Given the description of an element on the screen output the (x, y) to click on. 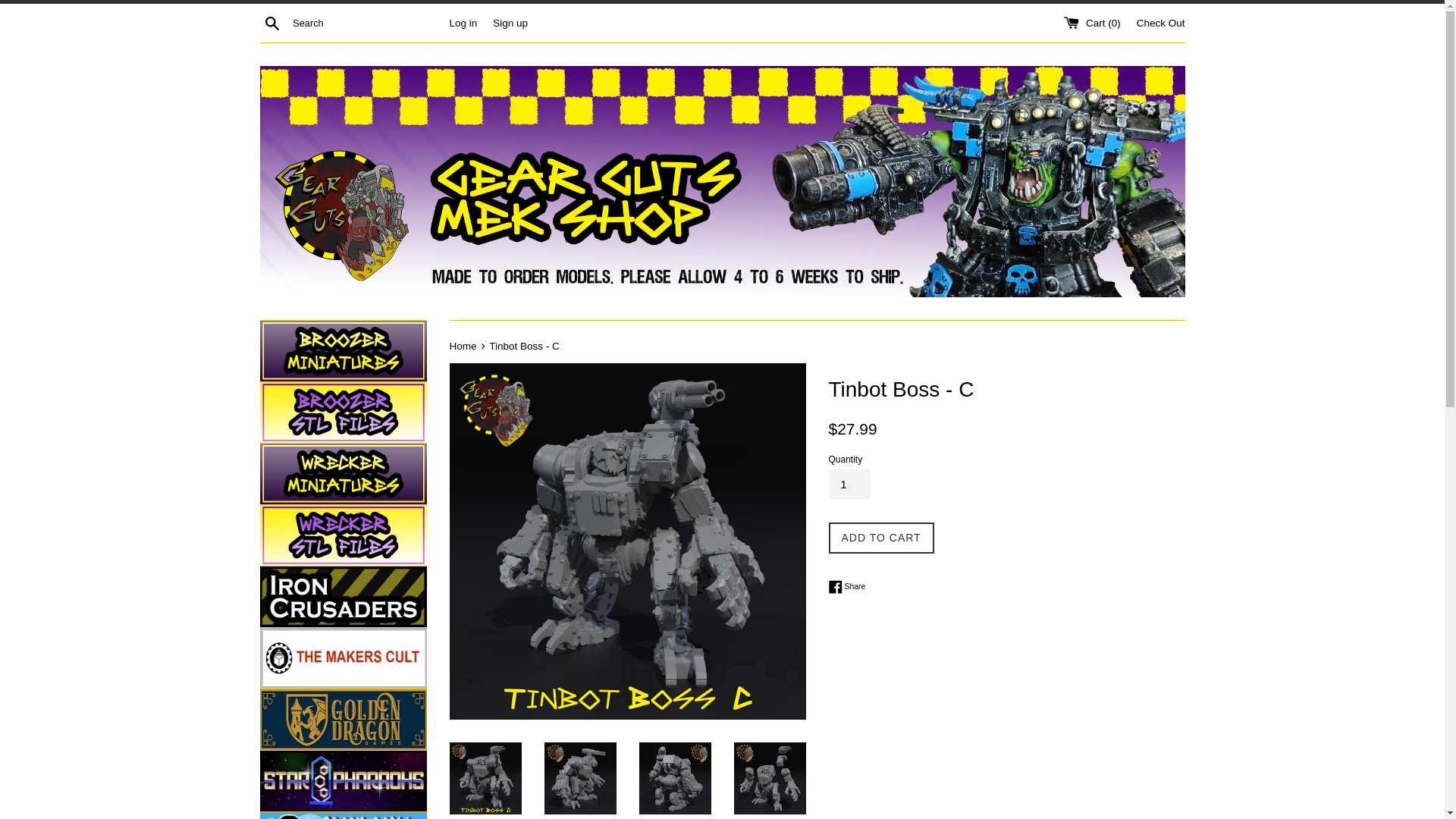
Broozer Miniatures (342, 351)
Blue Sky Minis (342, 815)
Wrecker Miniatures (342, 473)
1 (848, 484)
Check Out (1161, 21)
Iron Crusaders (342, 596)
Back to the frontpage (463, 346)
Star Pharaohs Foundry (846, 586)
The Makers Cult (342, 781)
ADD TO CART (342, 658)
Golden Dragon Games (880, 537)
Log in (342, 719)
Broozer STL Files (462, 21)
Wrecker STL Files (342, 412)
